Given the description of an element on the screen output the (x, y) to click on. 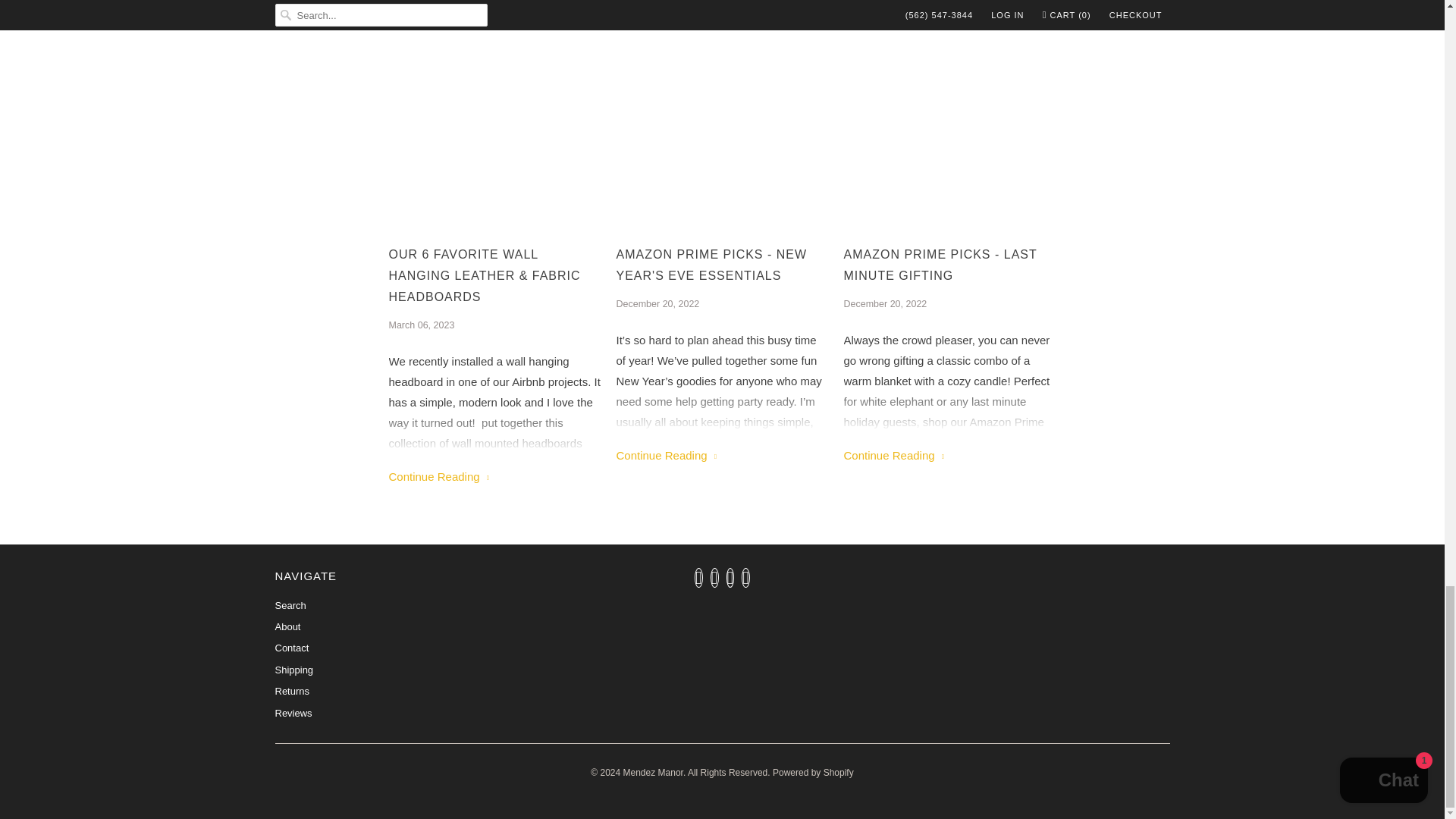
Amazon Prime Picks - New Year's Eve Essentials (721, 265)
Amazon Prime Picks - New Year's Eve Essentials (665, 454)
Amazon Prime Picks - Last Minute Gifting (949, 112)
Amazon Prime Picks - New Year's Eve Essentials (721, 112)
